Given the description of an element on the screen output the (x, y) to click on. 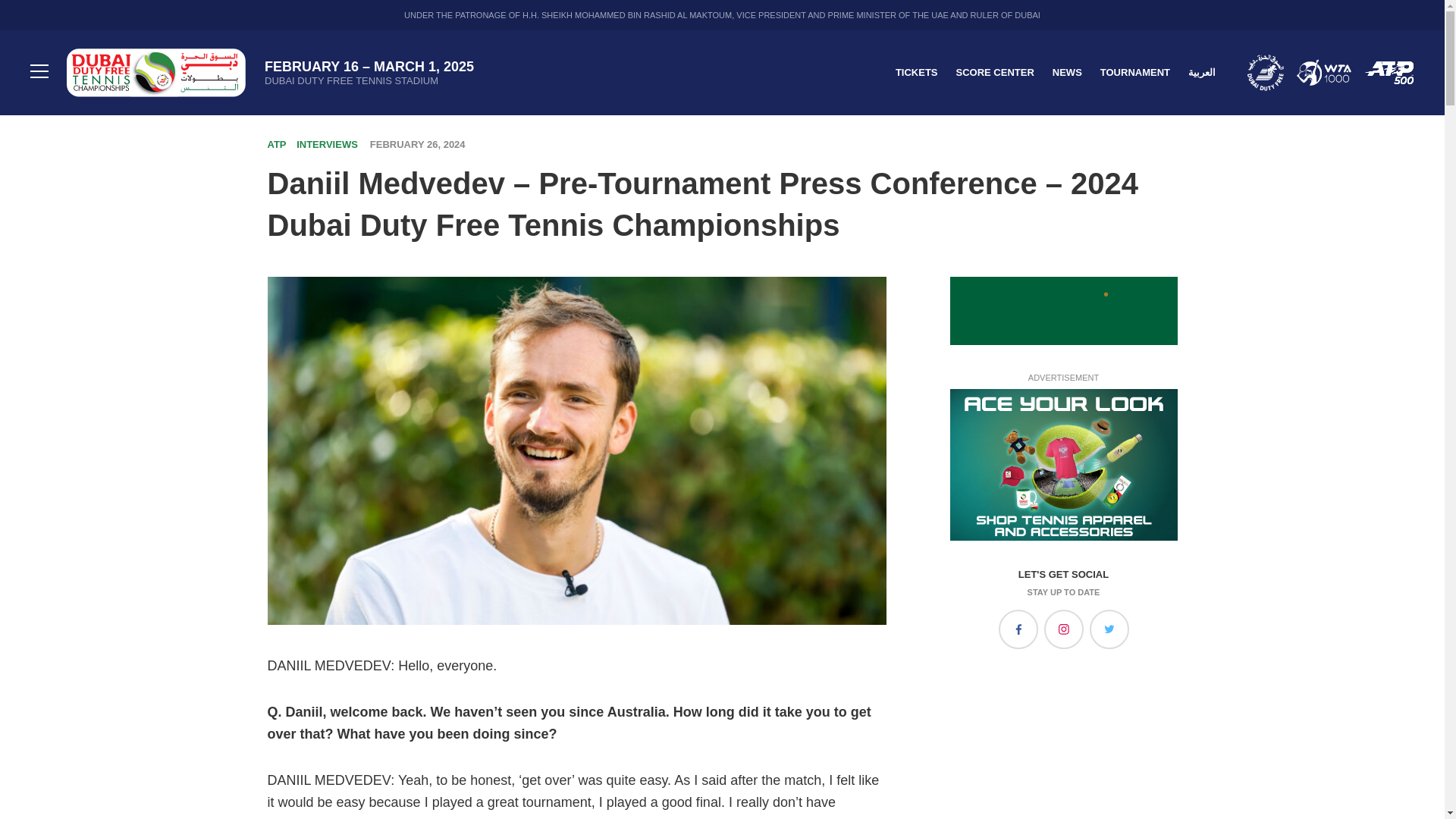
SCORE CENTER (994, 71)
Toggle menu (39, 72)
TICKETS (916, 71)
TOURNAMENT (1135, 71)
NEWS (1066, 71)
Dubai Duty Free Tennis Championship (156, 72)
